Given the description of an element on the screen output the (x, y) to click on. 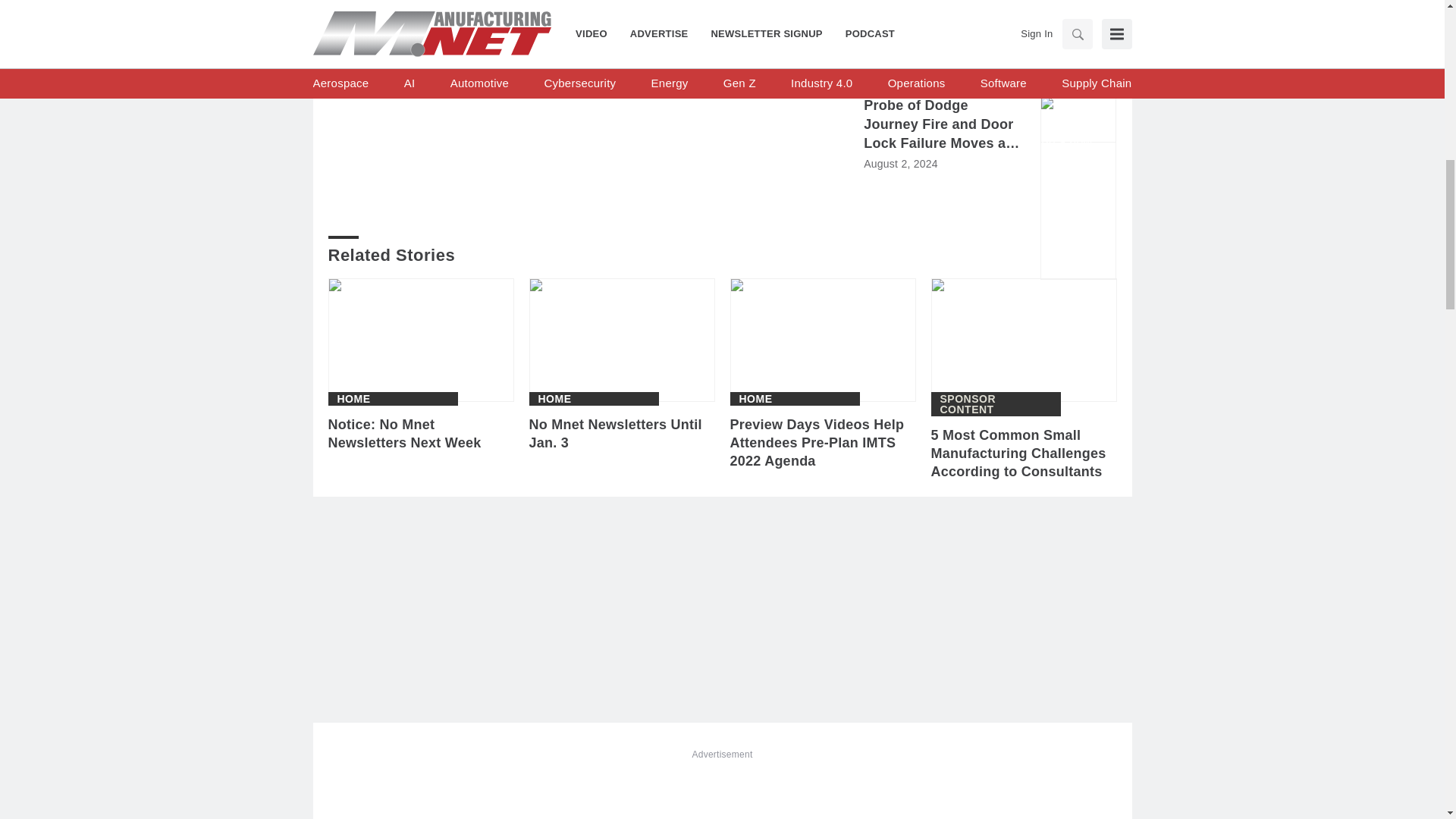
Home (352, 398)
Home (555, 398)
Home (754, 398)
Sponsor Content (996, 403)
